Given the description of an element on the screen output the (x, y) to click on. 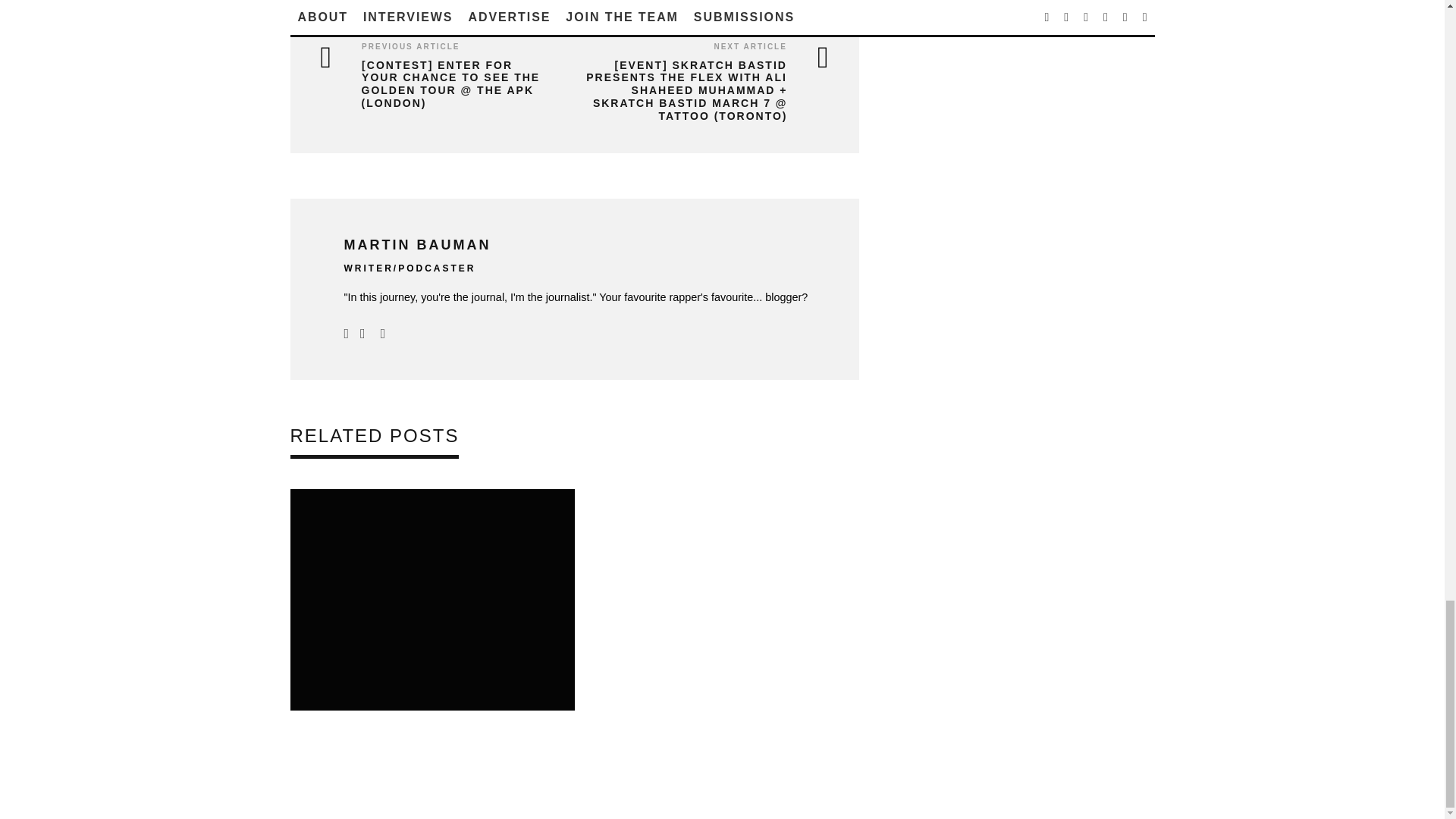
NEXT ARTICLE (749, 46)
PREVIOUS ARTICLE (410, 46)
MARTIN BAUMAN (417, 244)
